Given the description of an element on the screen output the (x, y) to click on. 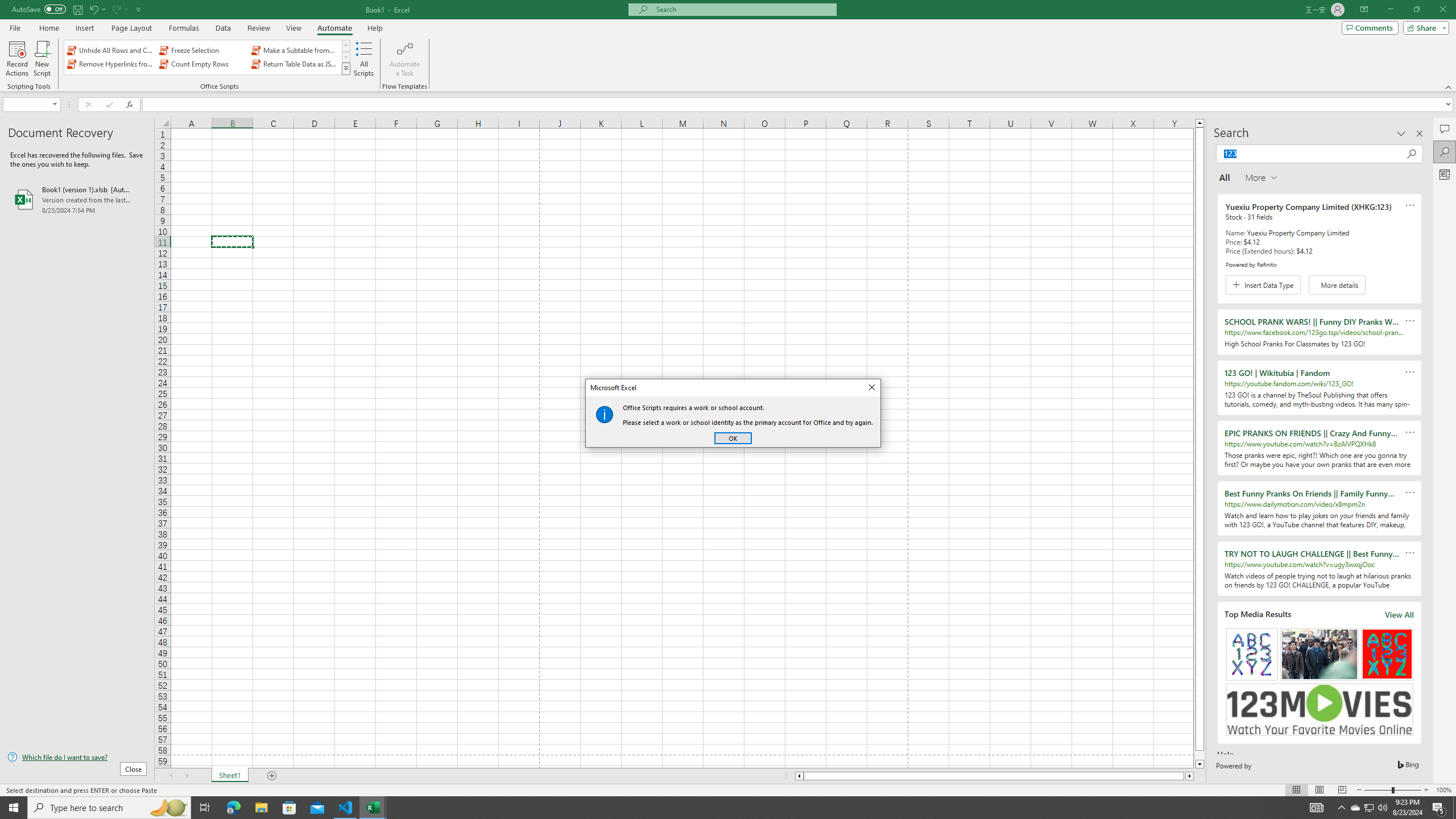
Normal (1296, 790)
Microsoft search (742, 9)
Search (1444, 151)
Running applications (717, 807)
Q2790: 100% (1382, 807)
Automate a Task (404, 58)
